Given the description of an element on the screen output the (x, y) to click on. 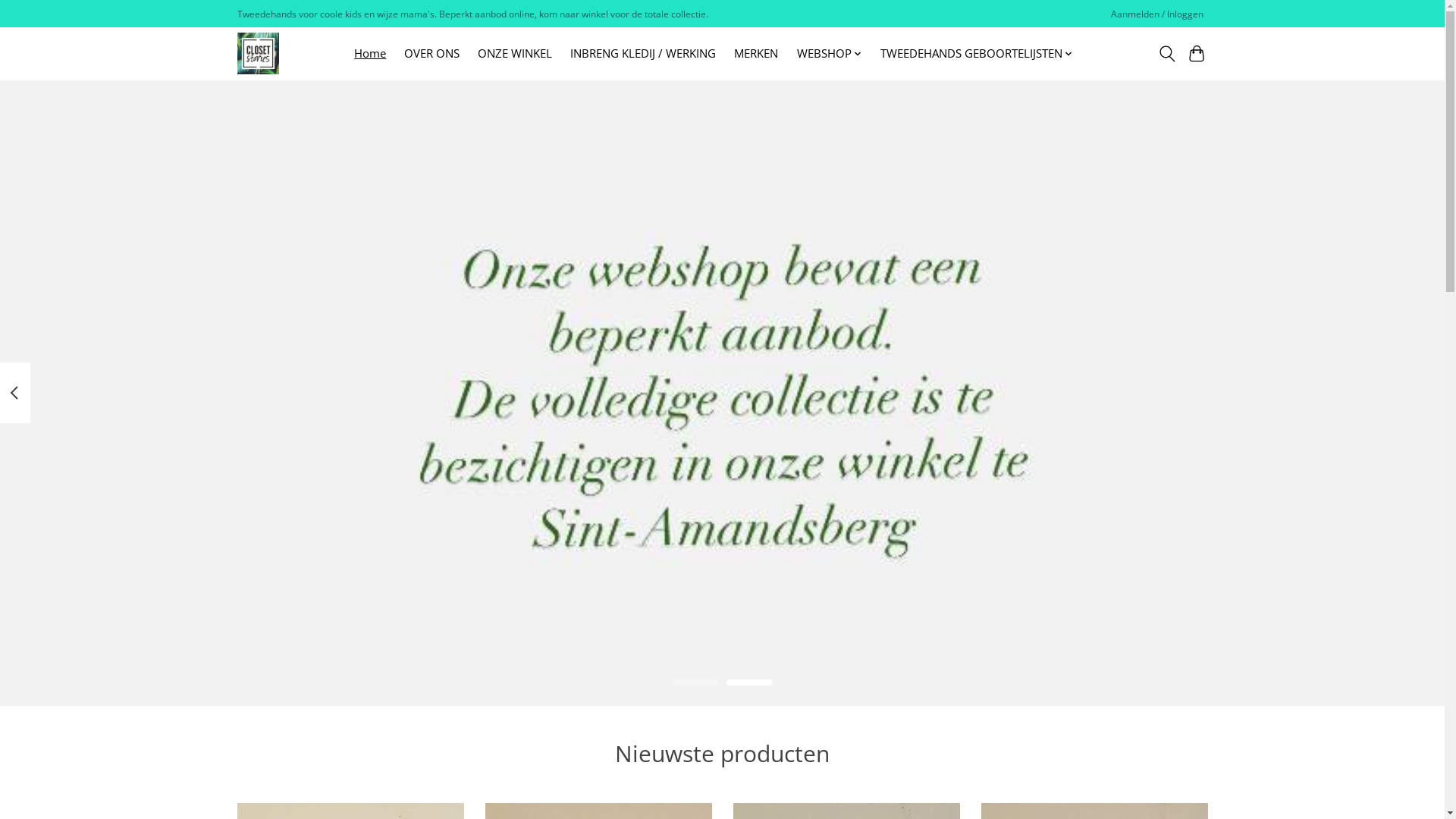
MERKEN Element type: text (755, 53)
TWEEDEHANDS GEBOORTELIJSTEN Element type: text (977, 53)
Home Element type: text (369, 53)
WEBSHOP Element type: text (828, 53)
INBRENG KLEDIJ / WERKING Element type: text (642, 53)
Aanmelden / Inloggen Element type: text (1156, 13)
OVER ONS Element type: text (431, 53)
Closet Stories  Element type: hover (257, 53)
ONZE WINKEL Element type: text (514, 53)
